Given the description of an element on the screen output the (x, y) to click on. 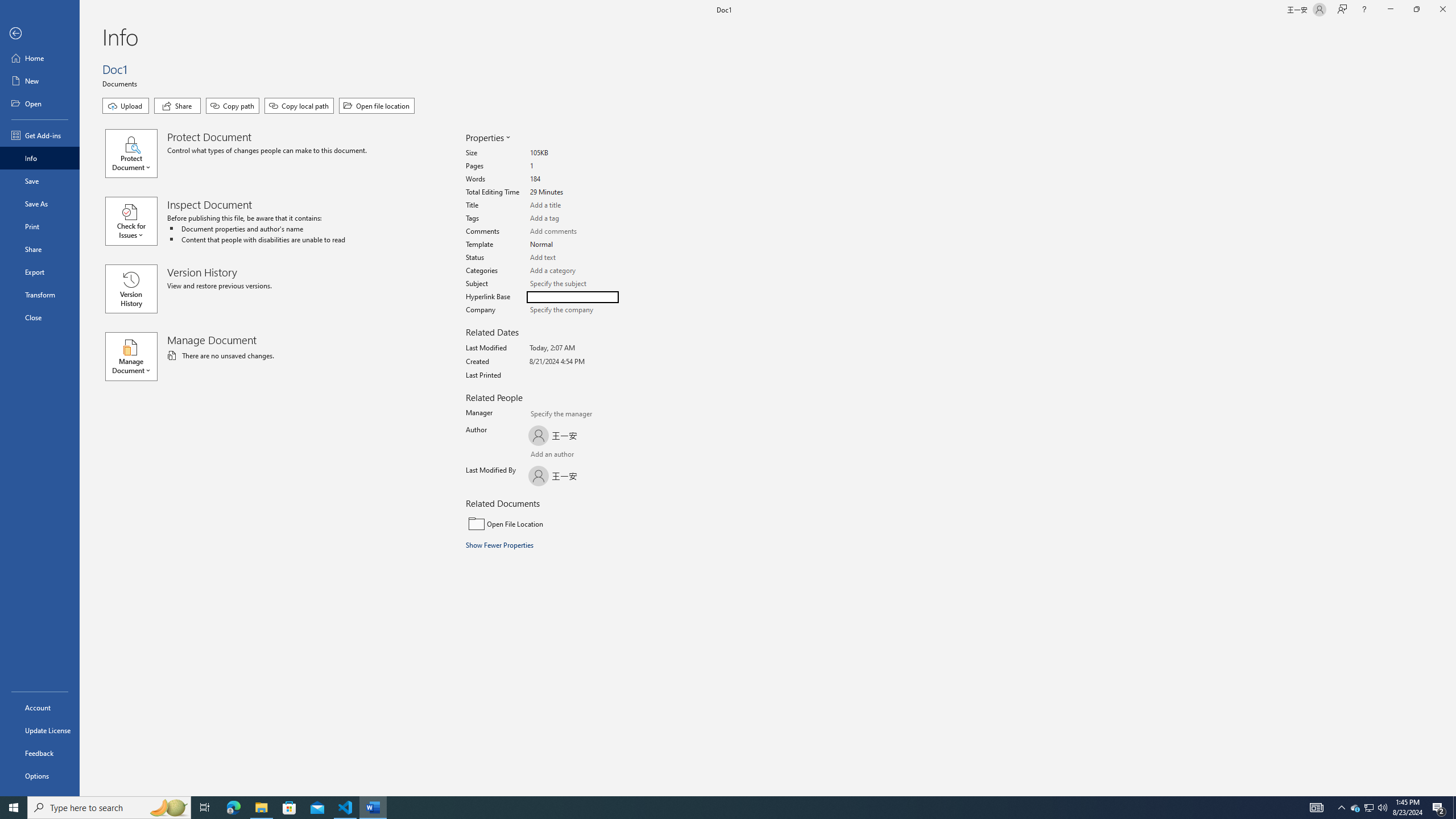
Open file location (376, 105)
Subject (572, 283)
Categories (572, 270)
Print (40, 225)
Home (40, 57)
Pages (572, 166)
Feedback (40, 753)
Options (40, 775)
Template (572, 244)
Account (40, 707)
Close (40, 317)
Add an author (540, 454)
Info (40, 157)
Size (572, 153)
